Given the description of an element on the screen output the (x, y) to click on. 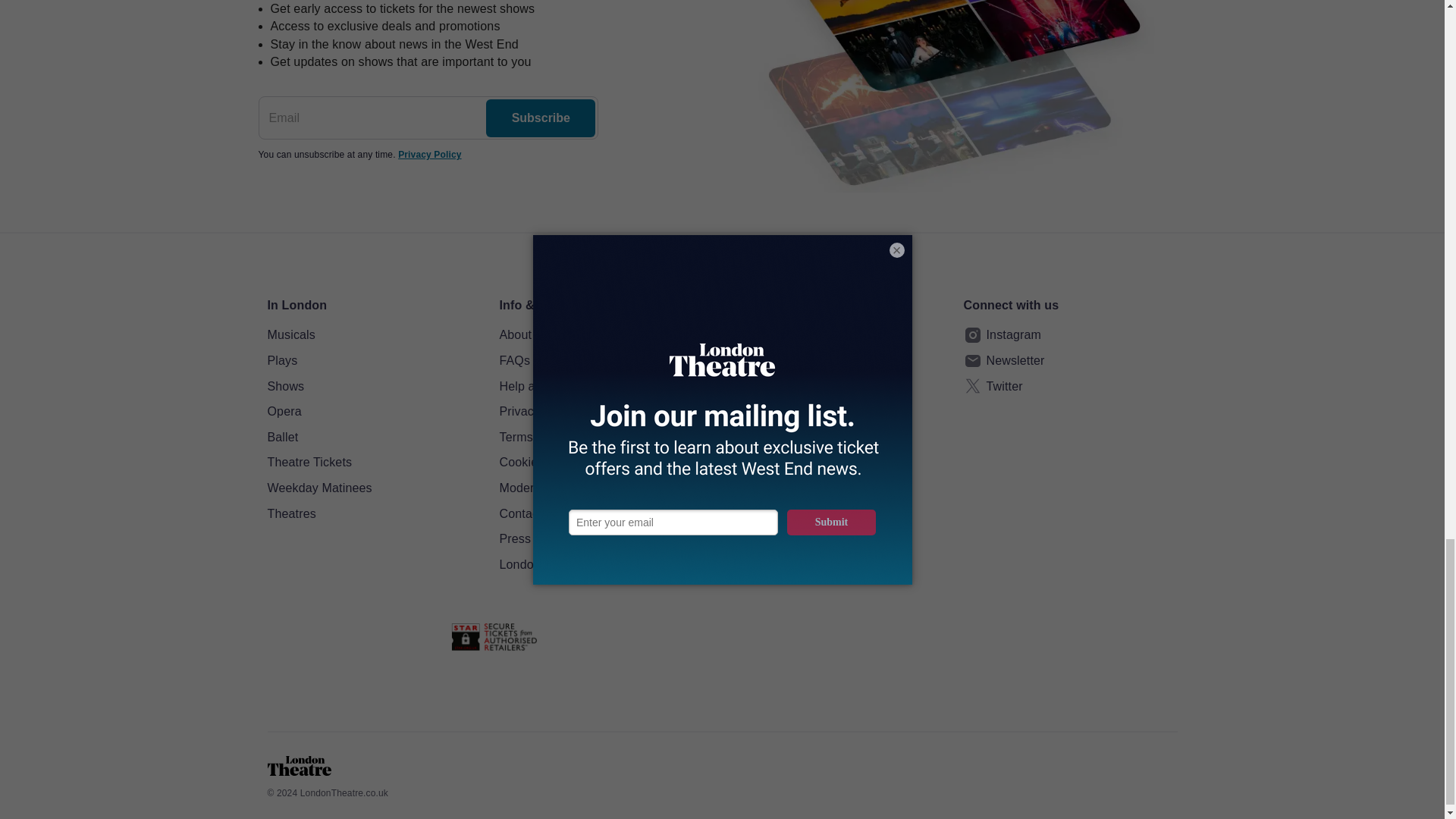
Terms and Conditions (606, 437)
About us (606, 334)
Theatre Tickets (373, 462)
Weekday Matinees (373, 487)
Contact Us (606, 514)
FAQs (606, 361)
London Theatre Magazine (606, 564)
Modern Slavery Statement (606, 487)
Theatres (373, 514)
New York Theatre Guide (837, 334)
Help and Support (606, 386)
Cookie Policy (606, 462)
Shows (373, 386)
Musicals (373, 334)
Opera (373, 411)
